Given the description of an element on the screen output the (x, y) to click on. 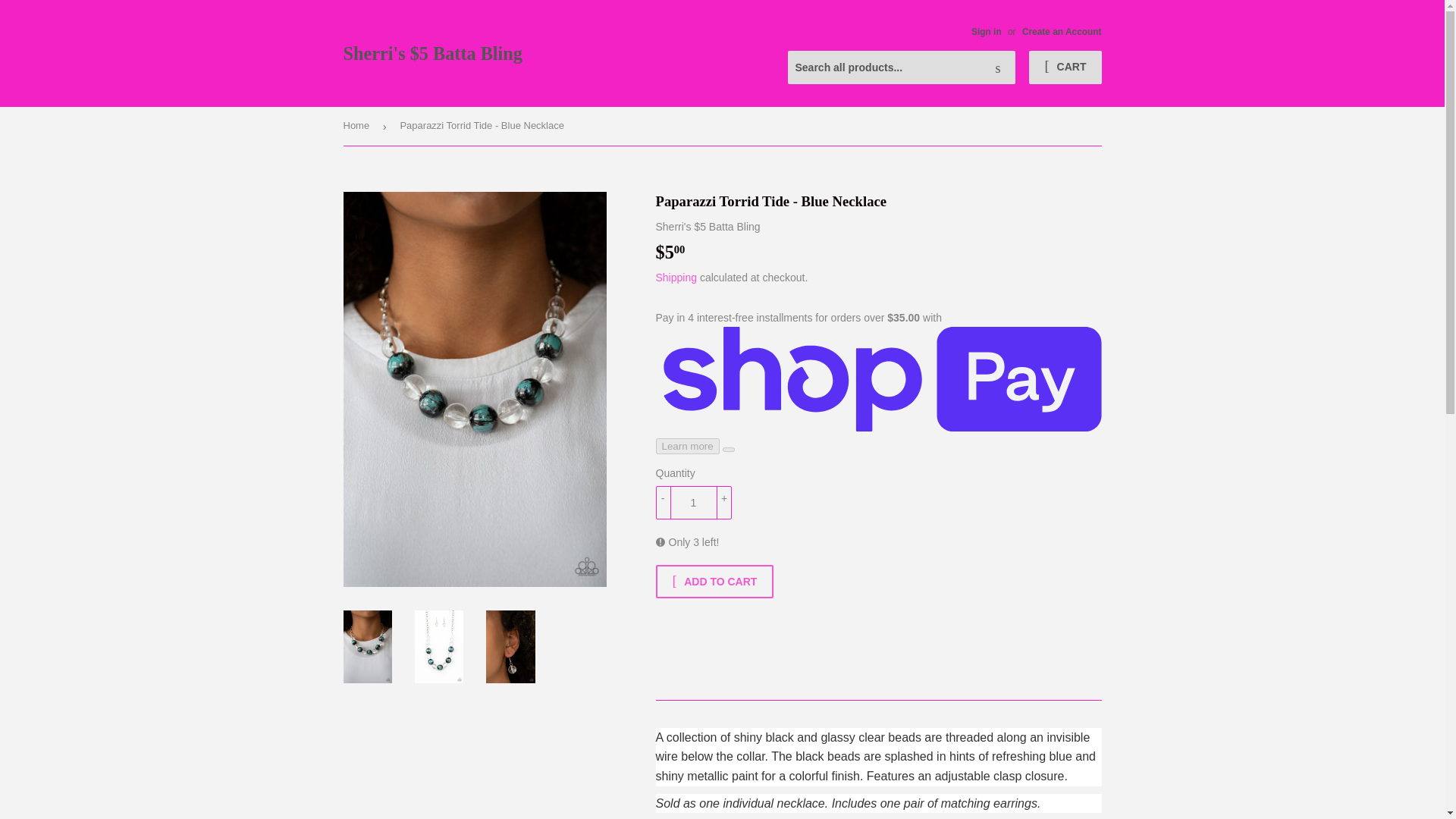
1 (692, 502)
ADD TO CART (714, 581)
Sign in (986, 31)
Shipping (676, 277)
Create an Account (1062, 31)
CART (1064, 67)
Search (997, 68)
